Given the description of an element on the screen output the (x, y) to click on. 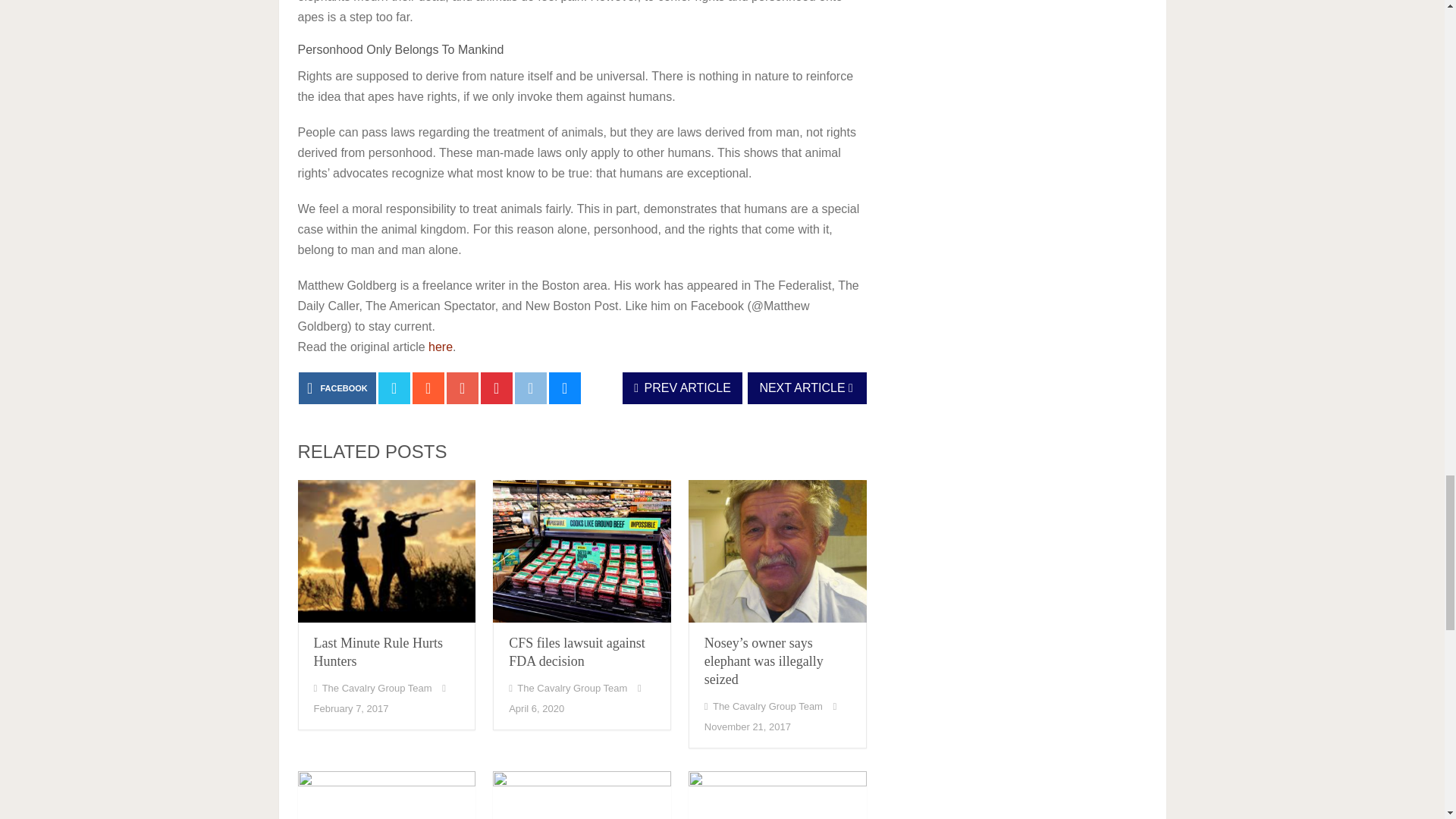
Last Minute Rule Hurts Hunters (386, 551)
CFS files lawsuit against FDA decision (582, 551)
Posts by The Cavalry Group Team (376, 687)
Last Minute Rule Hurts Hunters (378, 652)
Posts by The Cavalry Group Team (571, 687)
CFS files lawsuit against FDA decision (576, 652)
